Given the description of an element on the screen output the (x, y) to click on. 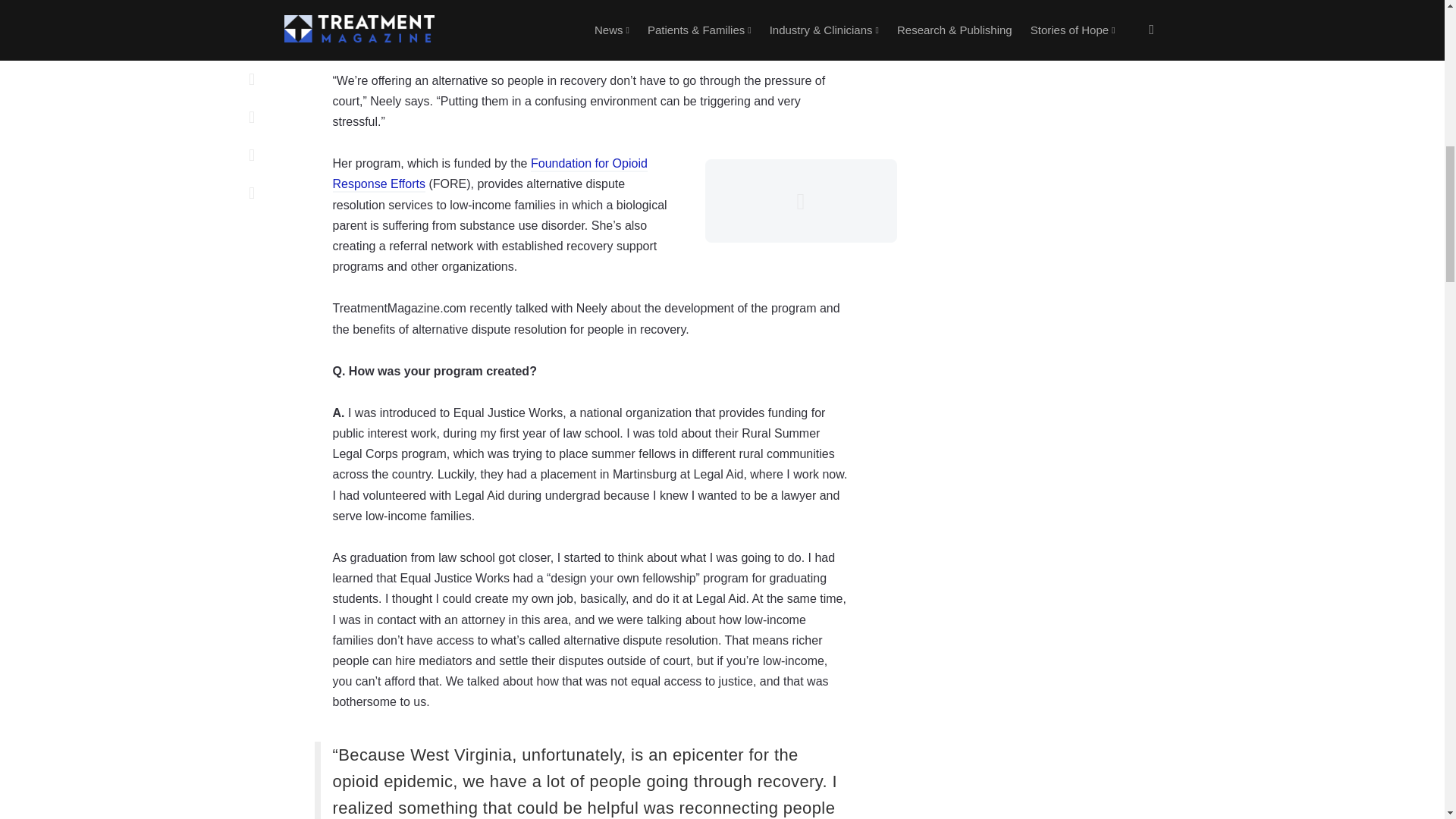
Equal Justice Works (669, 18)
Foundation for Opioid Response Efforts (488, 174)
